Given the description of an element on the screen output the (x, y) to click on. 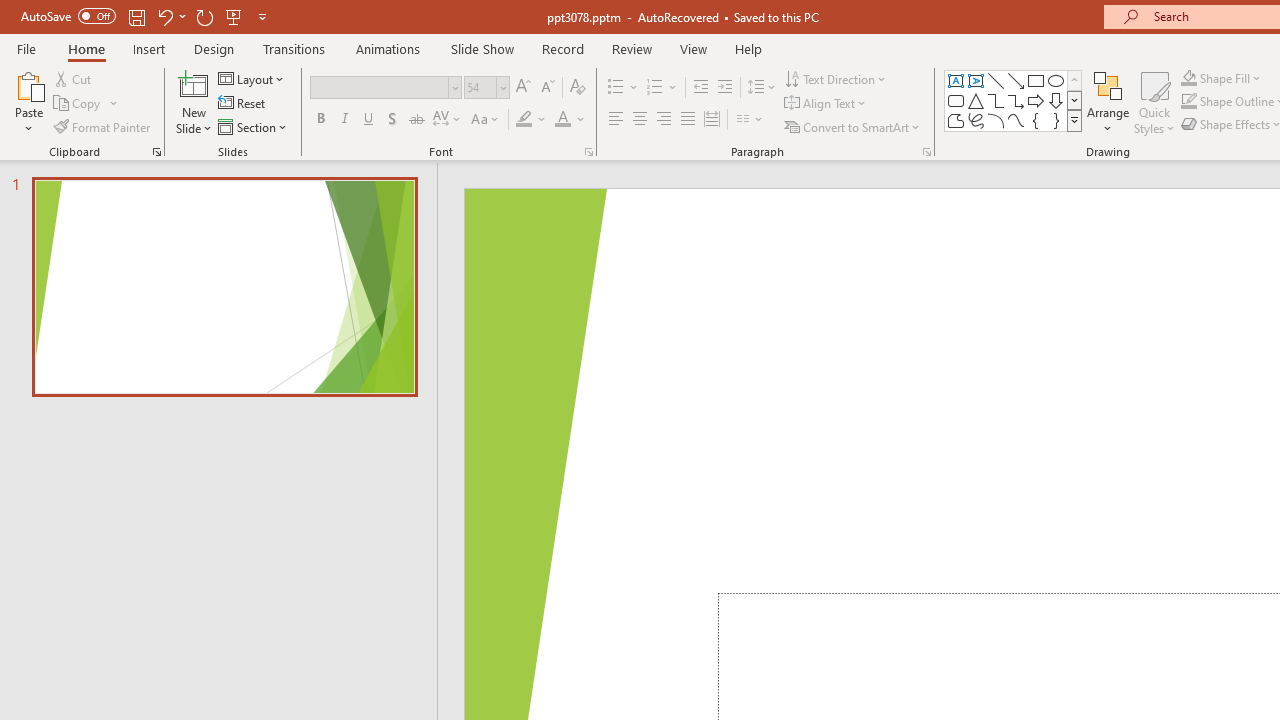
Arc (995, 120)
Underline (369, 119)
Decrease Font Size (547, 87)
Customize Quick Access Toolbar (262, 15)
System (10, 11)
Font... (588, 151)
Save (136, 15)
Copy (78, 103)
Convert to SmartArt (853, 126)
Bullets (616, 87)
Copy (85, 103)
Numbering (654, 87)
Vertical Text Box (975, 80)
System (10, 11)
Format Painter (103, 126)
